Given the description of an element on the screen output the (x, y) to click on. 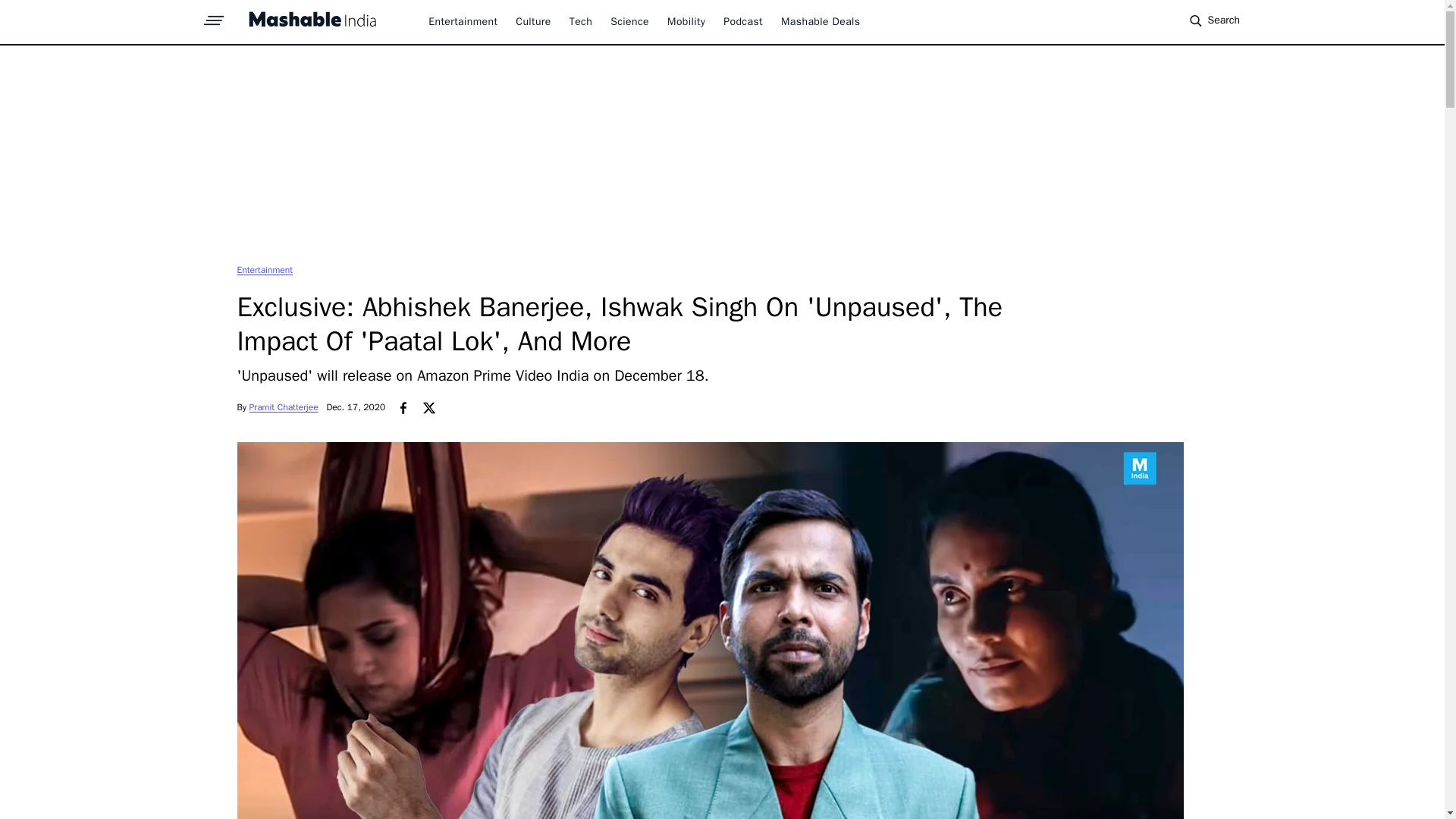
Entertainment (263, 269)
sprite-hamburger (213, 16)
Mashable Deals (820, 21)
Science (629, 21)
Podcast (742, 21)
Mobility (685, 21)
Tech (580, 21)
Entertainment (263, 269)
Pramit Chatterjee (283, 407)
Culture (532, 21)
